Given the description of an element on the screen output the (x, y) to click on. 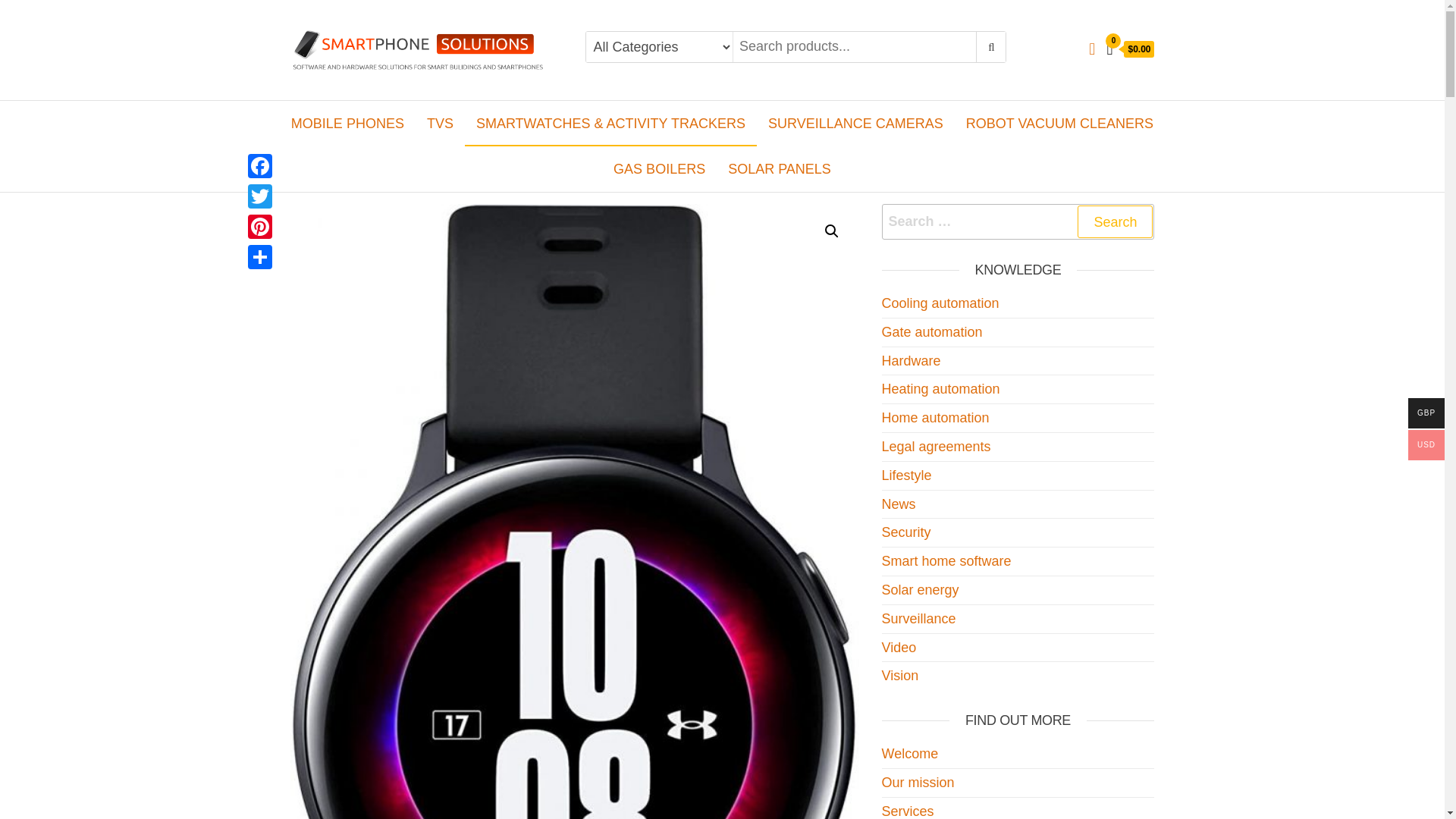
Solar Panels (779, 168)
MOBILE PHONES (346, 123)
TVS (439, 123)
Surveillance Cameras (856, 123)
Robot Vacuum Cleaners (1059, 123)
Gas Boilers (659, 168)
SURVEILLANCE CAMERAS (856, 123)
GAS BOILERS (659, 168)
View your shopping cart (1130, 49)
